Given the description of an element on the screen output the (x, y) to click on. 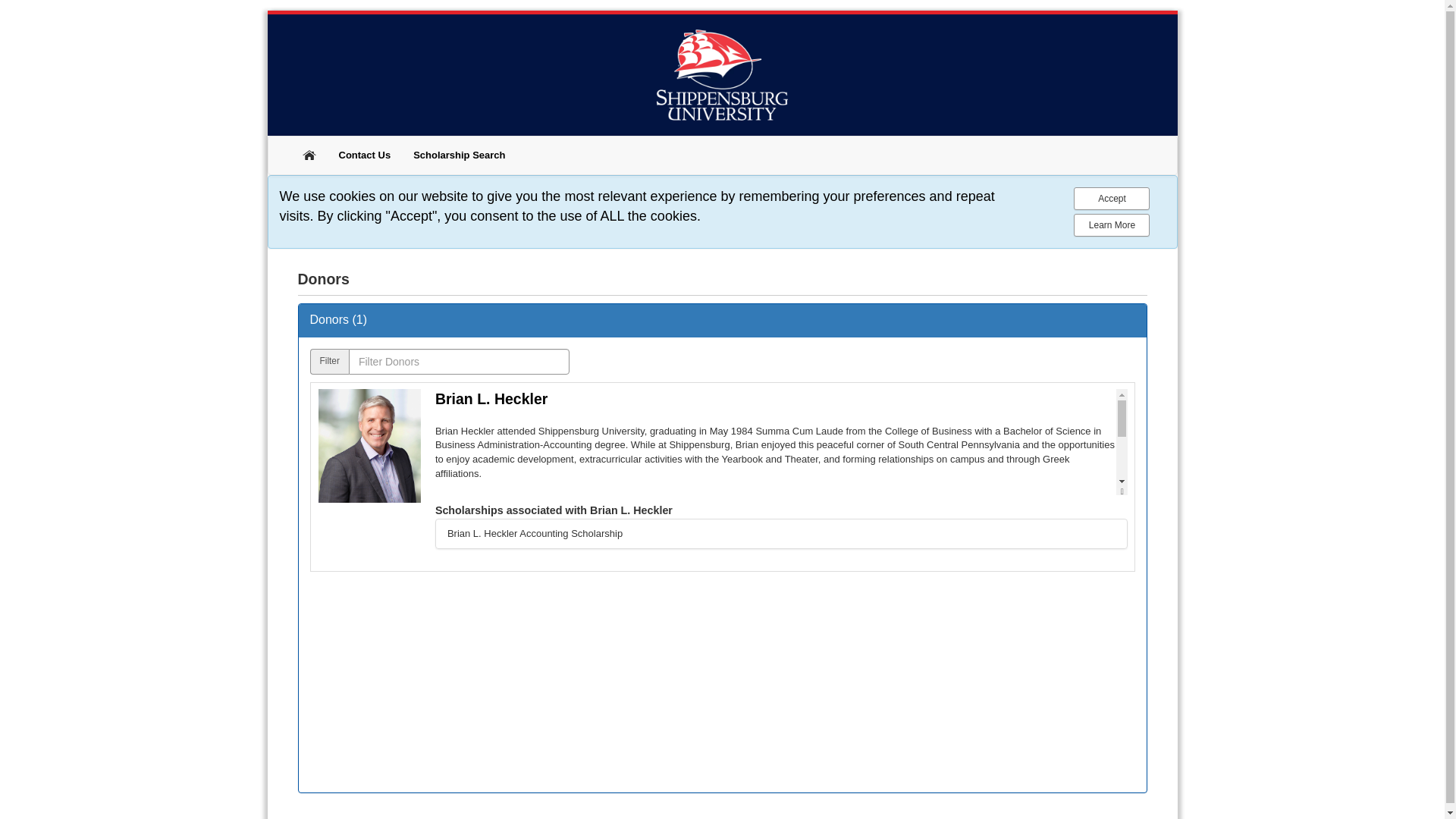
expand (1121, 491)
This is a profile image for the donor. (370, 445)
Contact Us (365, 155)
Accept (1112, 198)
Scholarship Search (458, 155)
home (308, 153)
Home (309, 153)
Contact Us (365, 155)
Learn More (1112, 224)
